Given the description of an element on the screen output the (x, y) to click on. 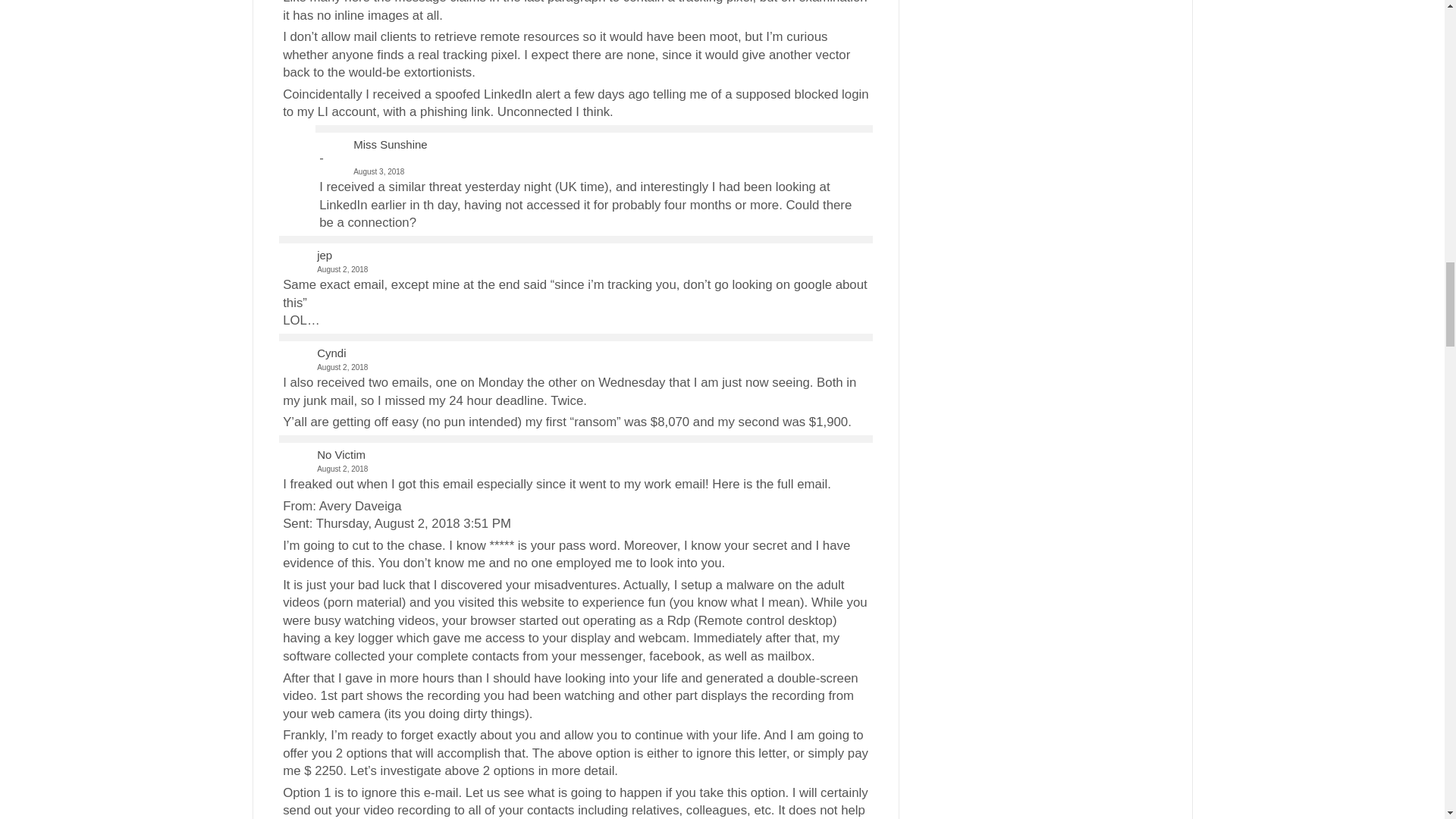
August 2, 2018 (574, 468)
August 2, 2018 (574, 269)
August 2, 2018 (574, 367)
August 3, 2018 (592, 164)
